Given the description of an element on the screen output the (x, y) to click on. 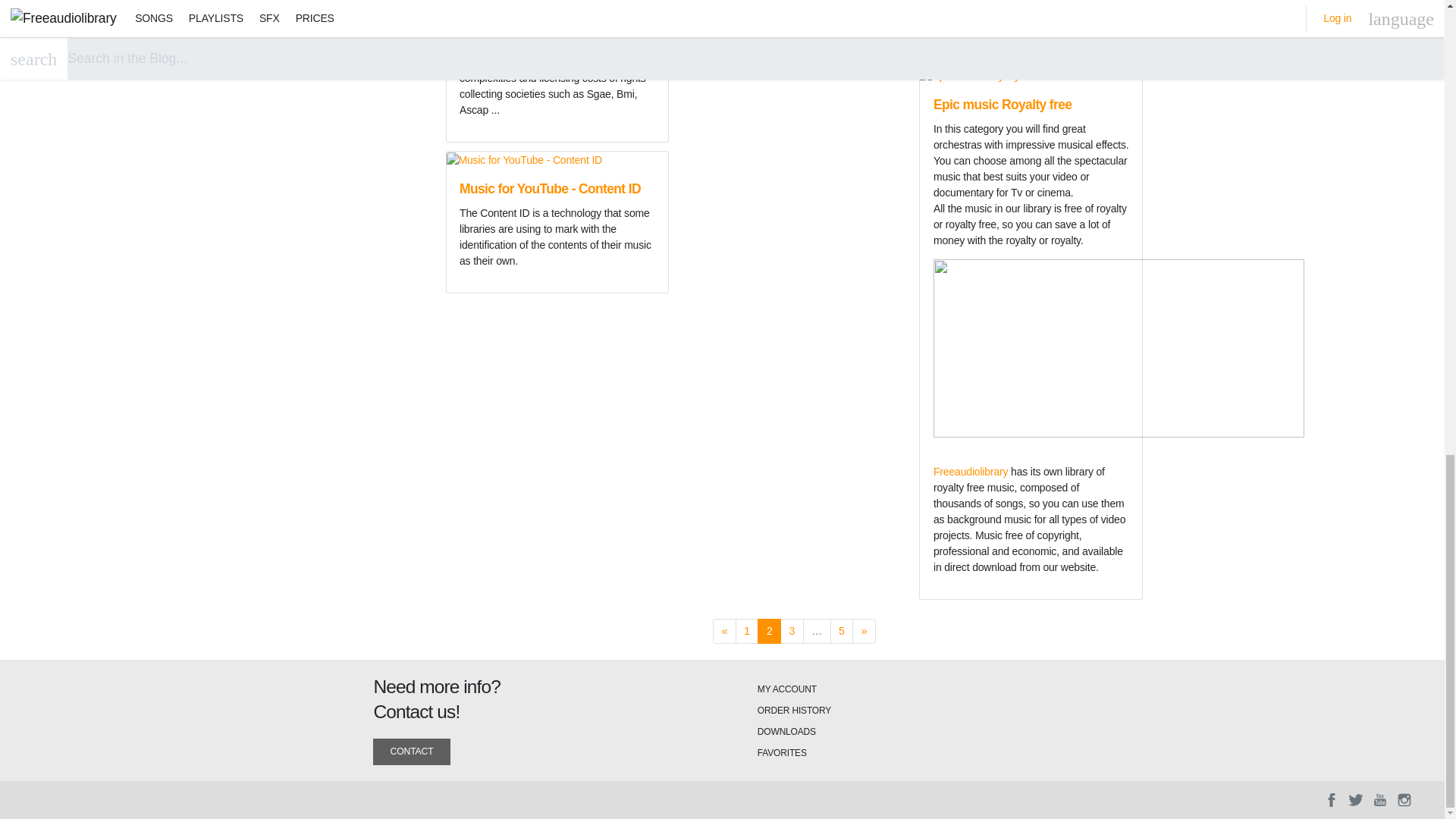
Downloads (786, 731)
Order history (794, 710)
Favorites (781, 752)
My account (786, 688)
